Given the description of an element on the screen output the (x, y) to click on. 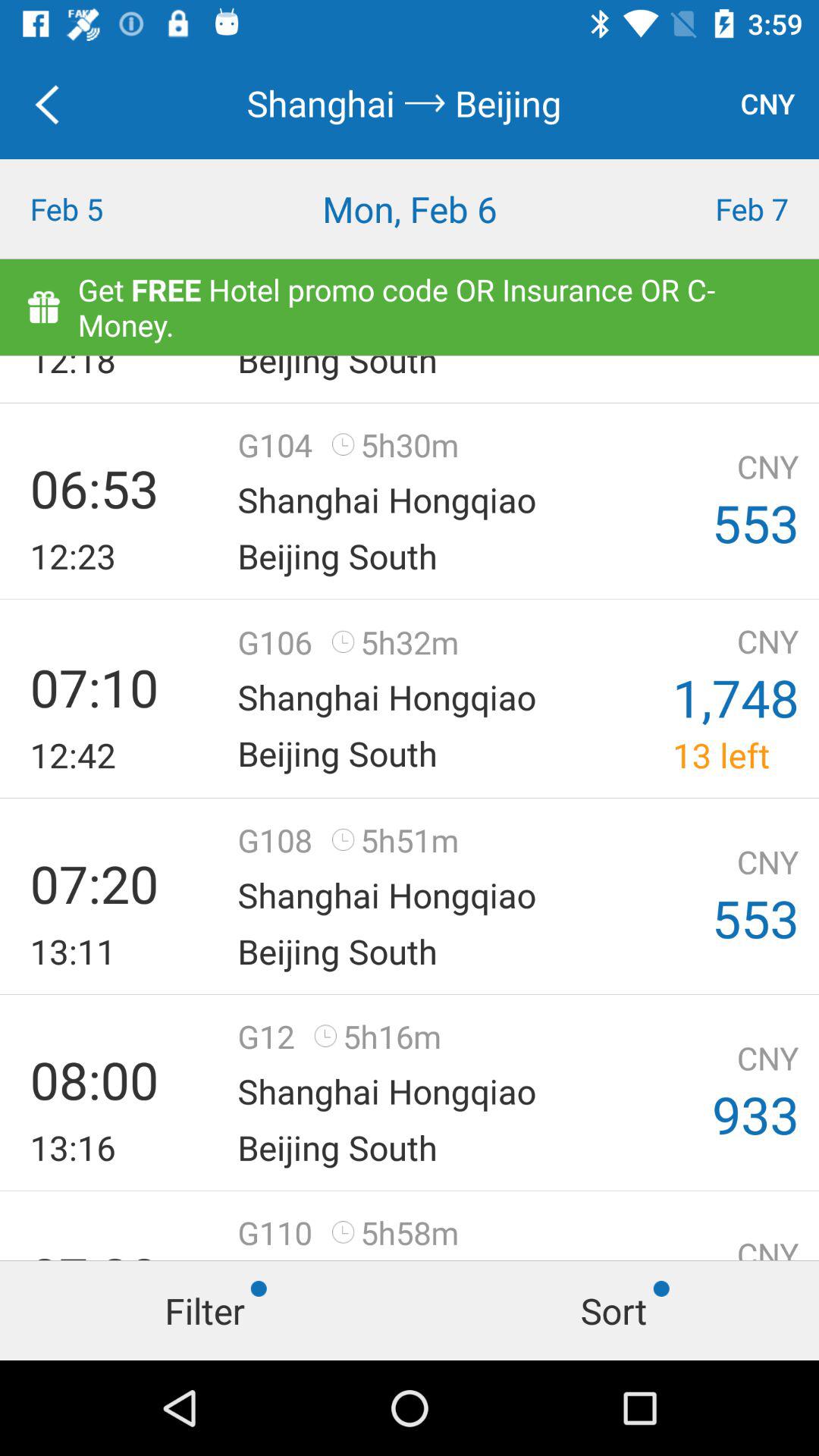
click icon to the right of feb 5 (409, 208)
